Given the description of an element on the screen output the (x, y) to click on. 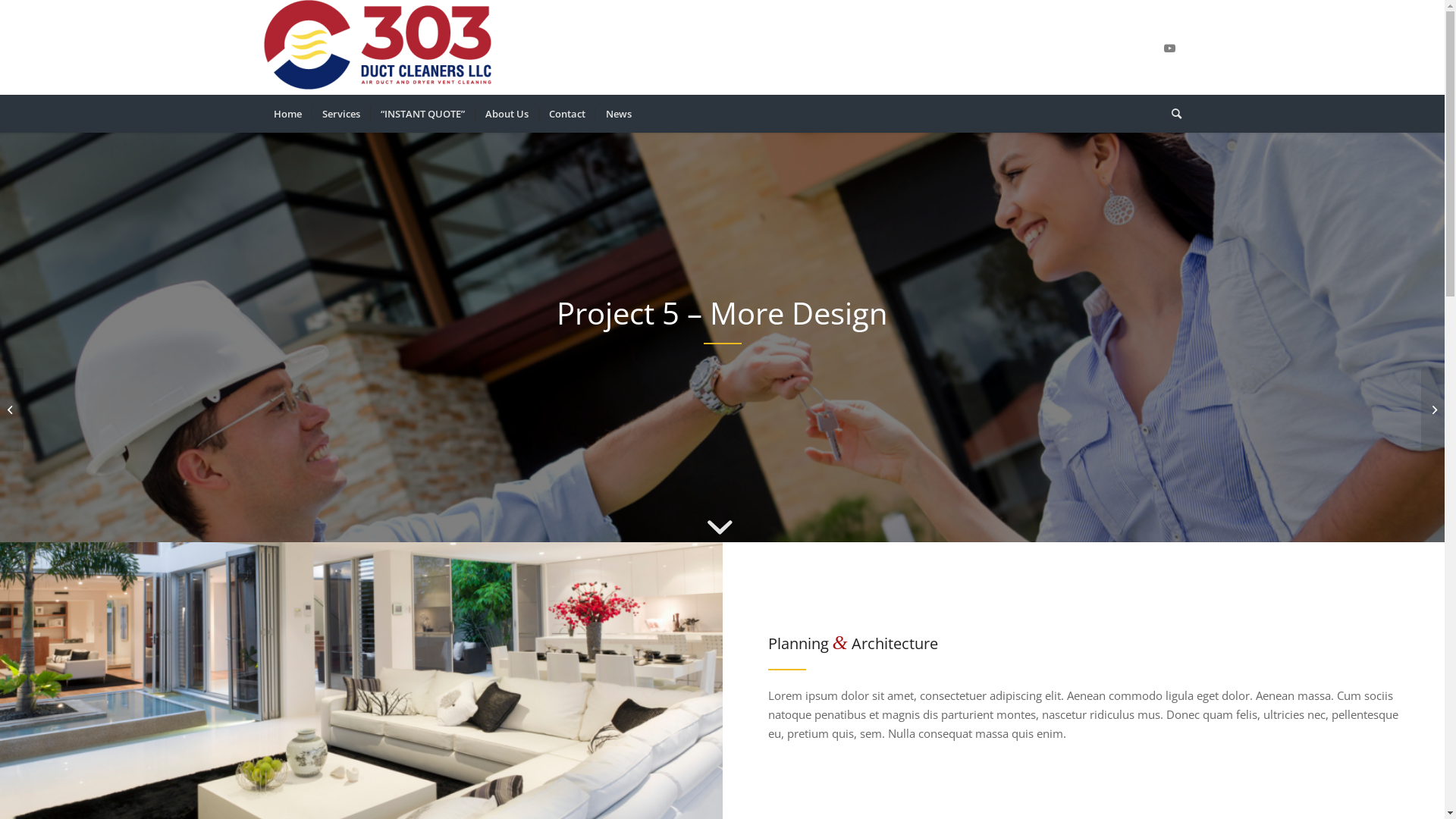
About Us Element type: text (506, 113)
News Element type: text (617, 113)
Home Element type: text (287, 113)
Youtube Element type: hover (1169, 47)
Services Element type: text (339, 113)
Contact Element type: text (566, 113)
